Given the description of an element on the screen output the (x, y) to click on. 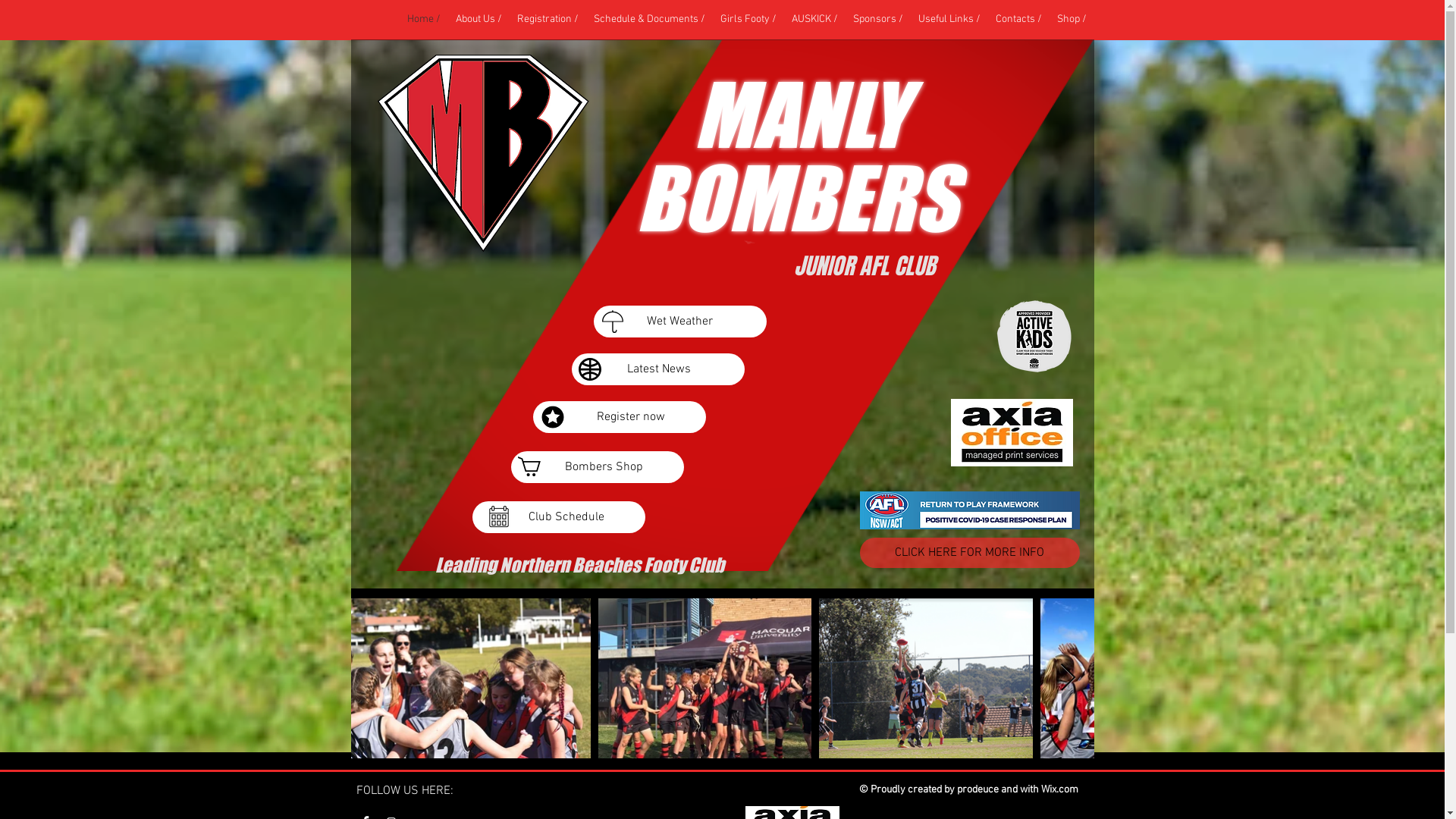
Home / Element type: text (422, 19)
Latest News Element type: text (657, 369)
Register now Element type: text (618, 417)
CLICK HERE FOR MORE INFO Element type: text (969, 552)
Wet Weather Element type: text (679, 321)
Bombers Shop Element type: text (597, 467)
Wix.com Element type: text (1058, 789)
Club Schedule Element type: text (557, 517)
Shop / Element type: text (1071, 19)
